Given the description of an element on the screen output the (x, y) to click on. 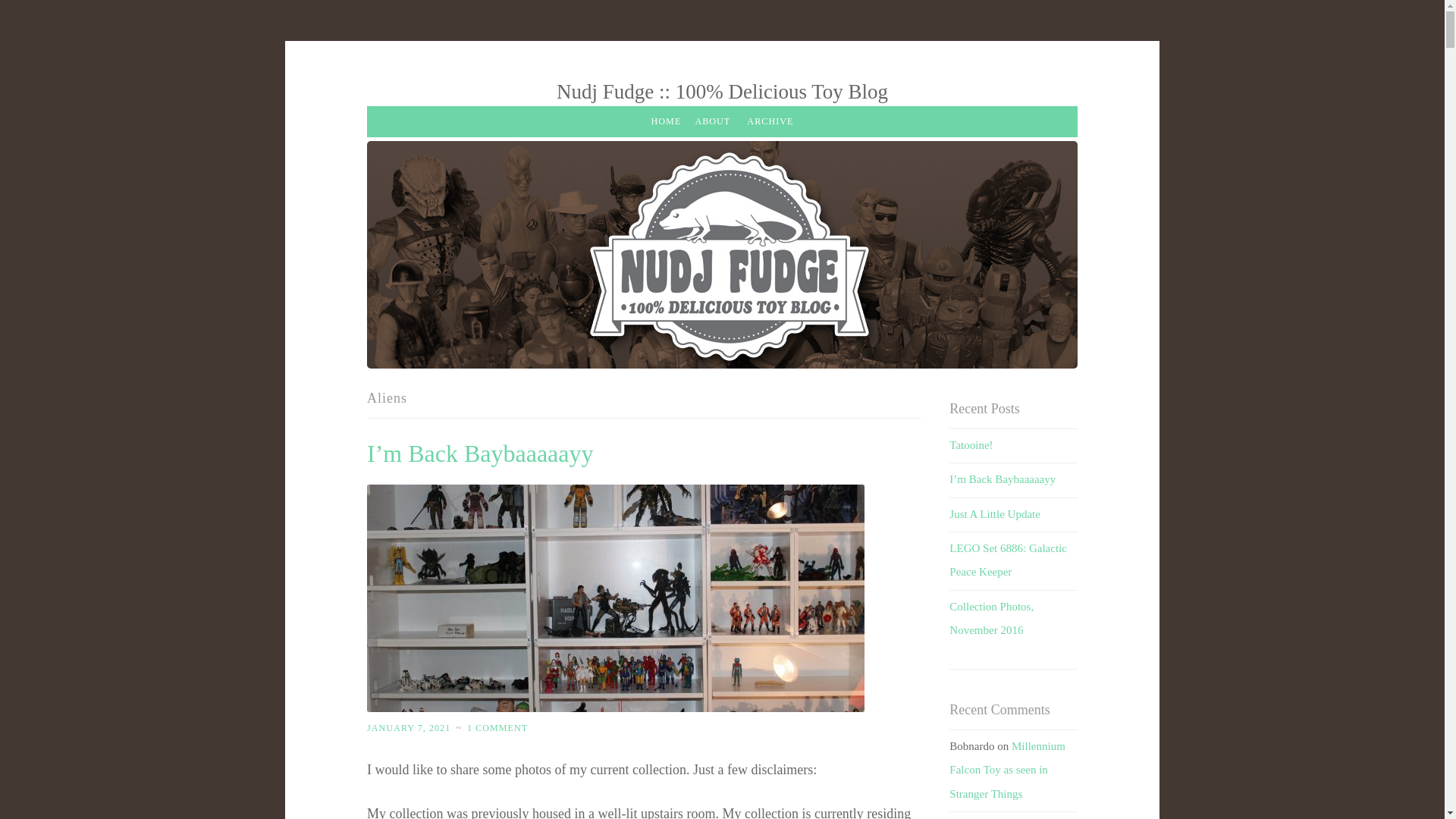
JANUARY 7, 2021 (407, 727)
Skip to content (400, 91)
1 COMMENT (497, 727)
HOME (666, 122)
ABOUT (711, 122)
ARCHIVE (769, 122)
